Given the description of an element on the screen output the (x, y) to click on. 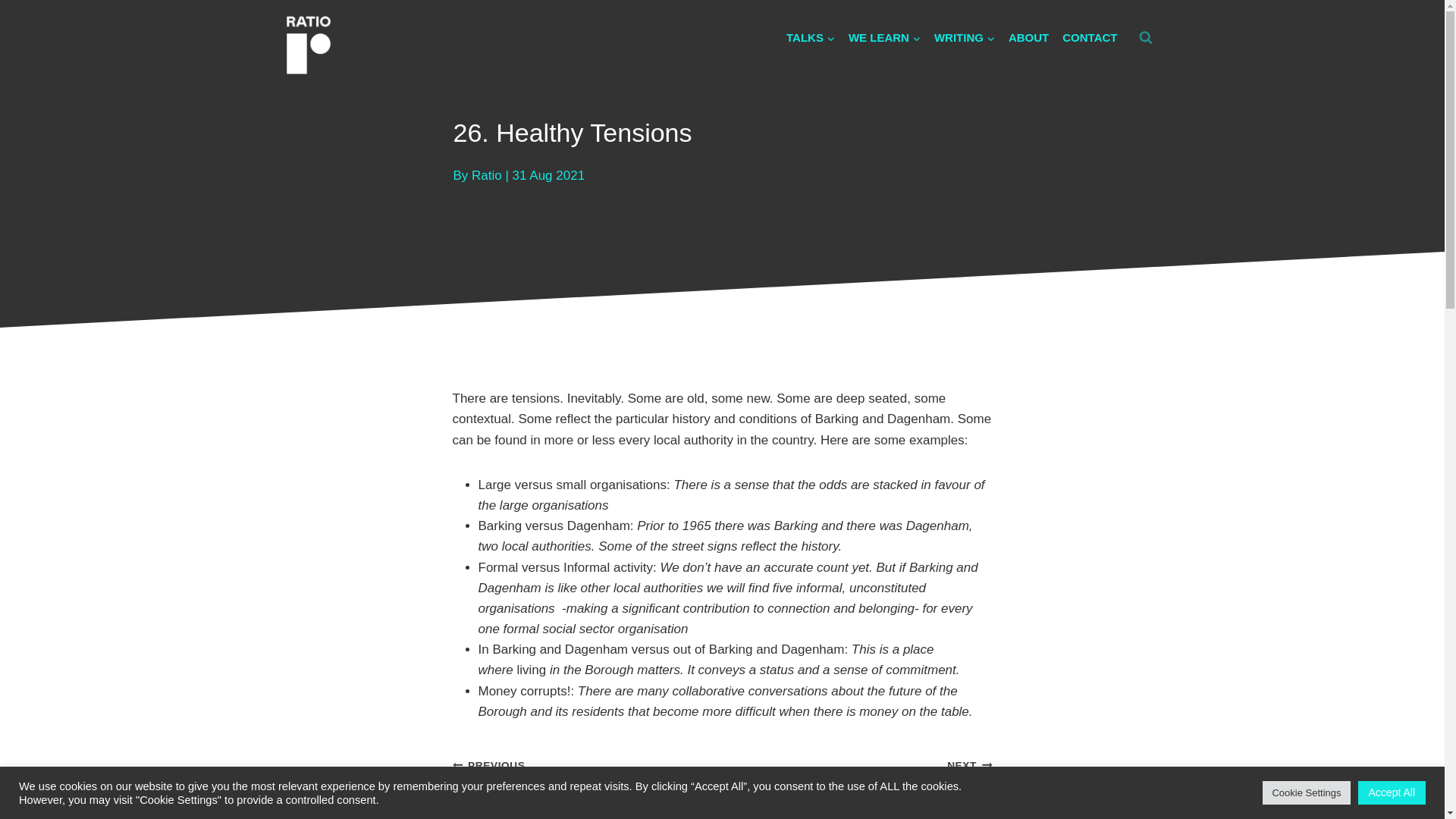
WRITING (964, 37)
WE LEARN (884, 37)
CONTACT (1089, 37)
